Given the description of an element on the screen output the (x, y) to click on. 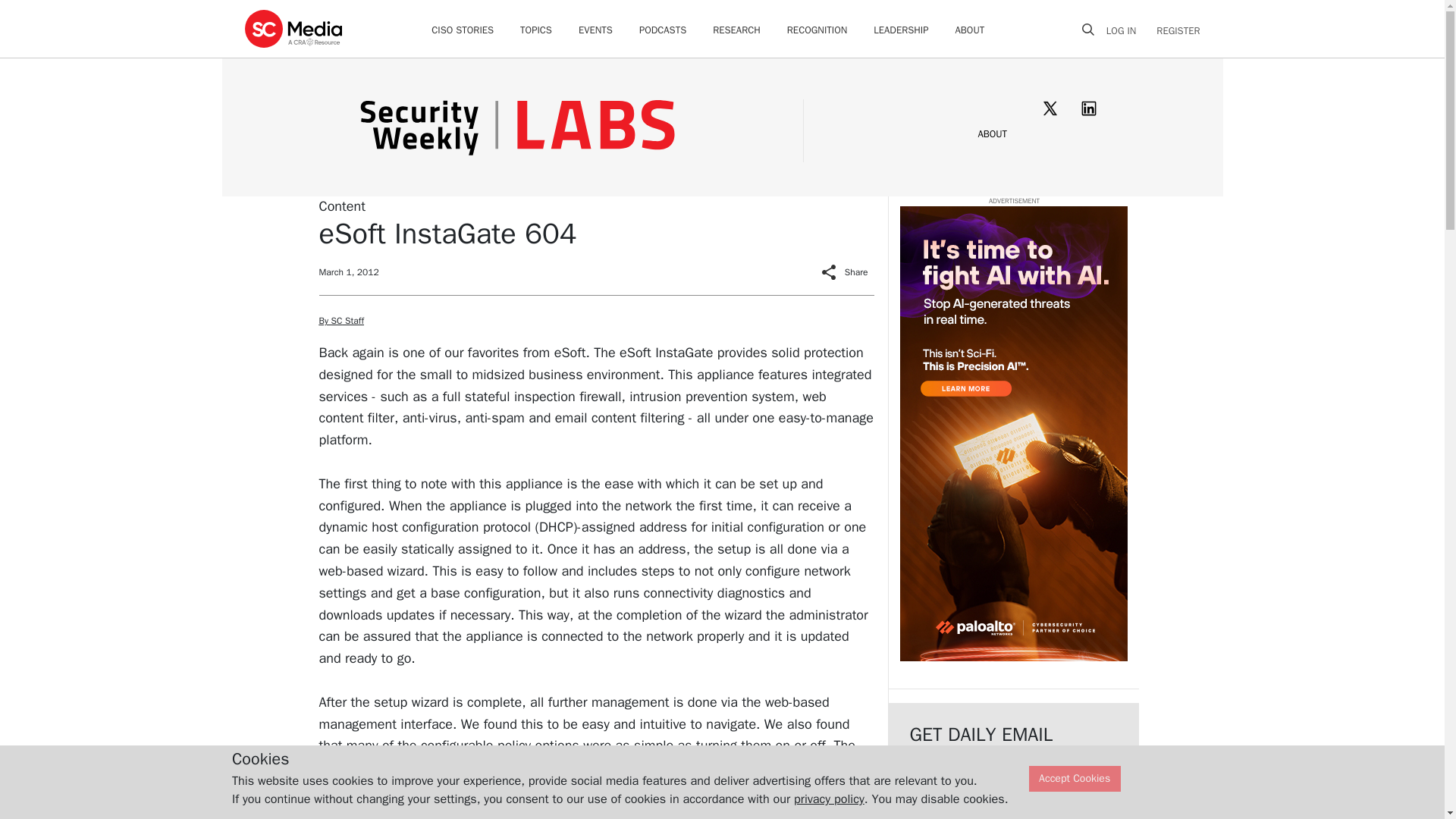
linkedin (1088, 108)
PODCASTS (662, 30)
LOG IN (1126, 30)
By SC Staff (340, 320)
SC Media (292, 27)
twitter (1050, 108)
ABOUT (970, 30)
LEADERSHIP (900, 30)
RECOGNITION (817, 30)
RESEARCH (736, 30)
TOPICS (535, 30)
REGISTER (1173, 30)
ABOUT (991, 133)
Content (341, 205)
EVENTS (595, 30)
